Given the description of an element on the screen output the (x, y) to click on. 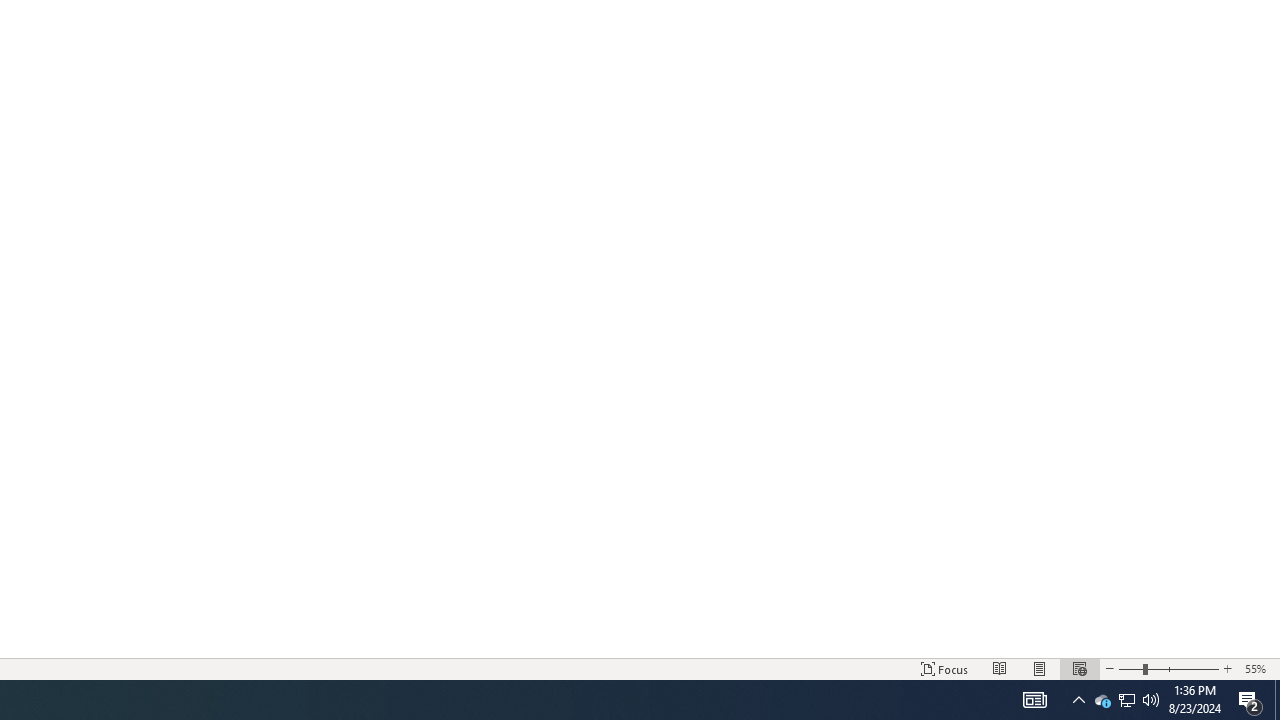
Zoom In (1227, 668)
Web Layout (1079, 668)
Zoom 55% (1258, 668)
Zoom Out (1130, 668)
Zoom (1168, 668)
Print Layout (1039, 668)
Focus  (944, 668)
Read Mode (1000, 668)
